Given the description of an element on the screen output the (x, y) to click on. 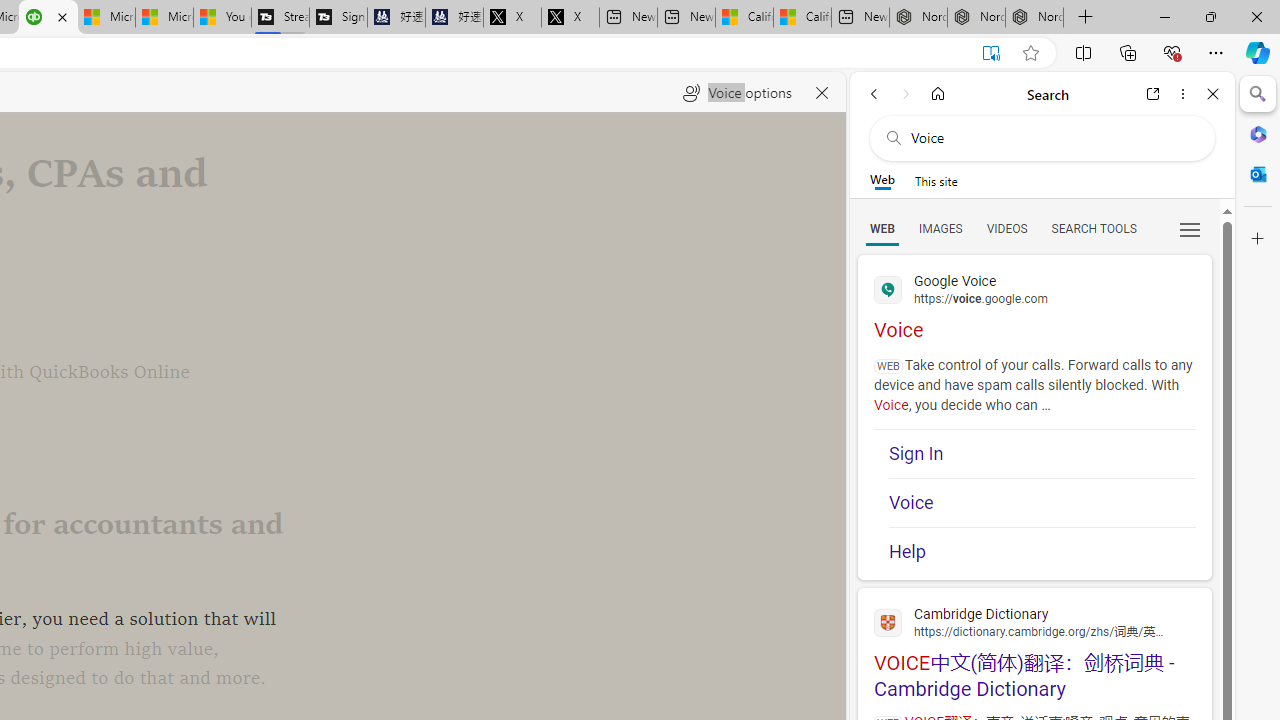
Web scope (882, 180)
Help (1042, 551)
Voice options (737, 92)
Sign In (1042, 453)
Forward (906, 93)
Open link in new tab (1153, 93)
Sign In (1042, 453)
Customize (1258, 239)
Nordace Siena Pro 15 Backpack (976, 17)
Microsoft Start Sports (106, 17)
